Given the description of an element on the screen output the (x, y) to click on. 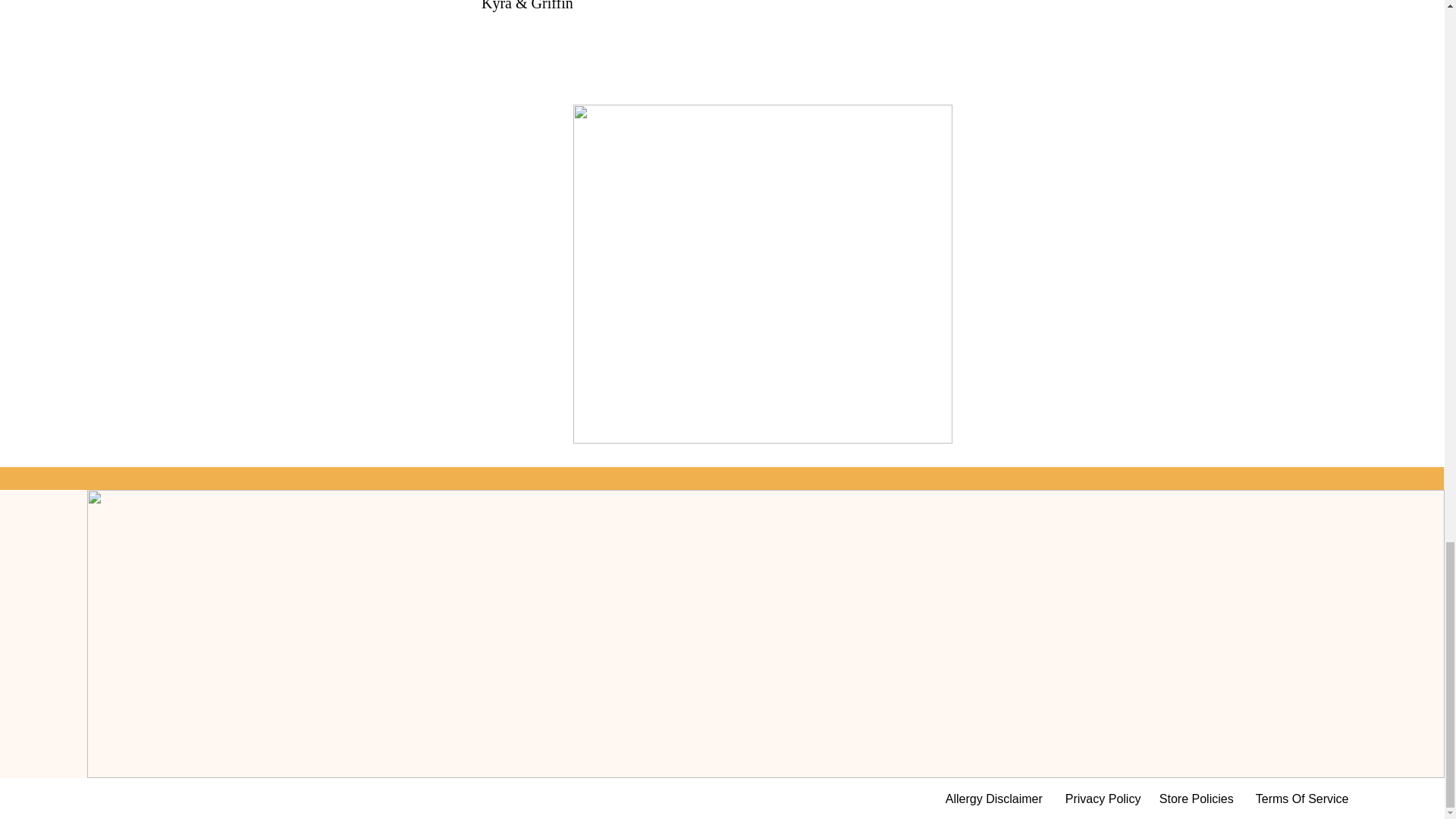
Store Policies (1196, 798)
Privacy Policy (1101, 798)
Terms Of Service (1300, 798)
Allergy Disclaimer (993, 798)
